Given the description of an element on the screen output the (x, y) to click on. 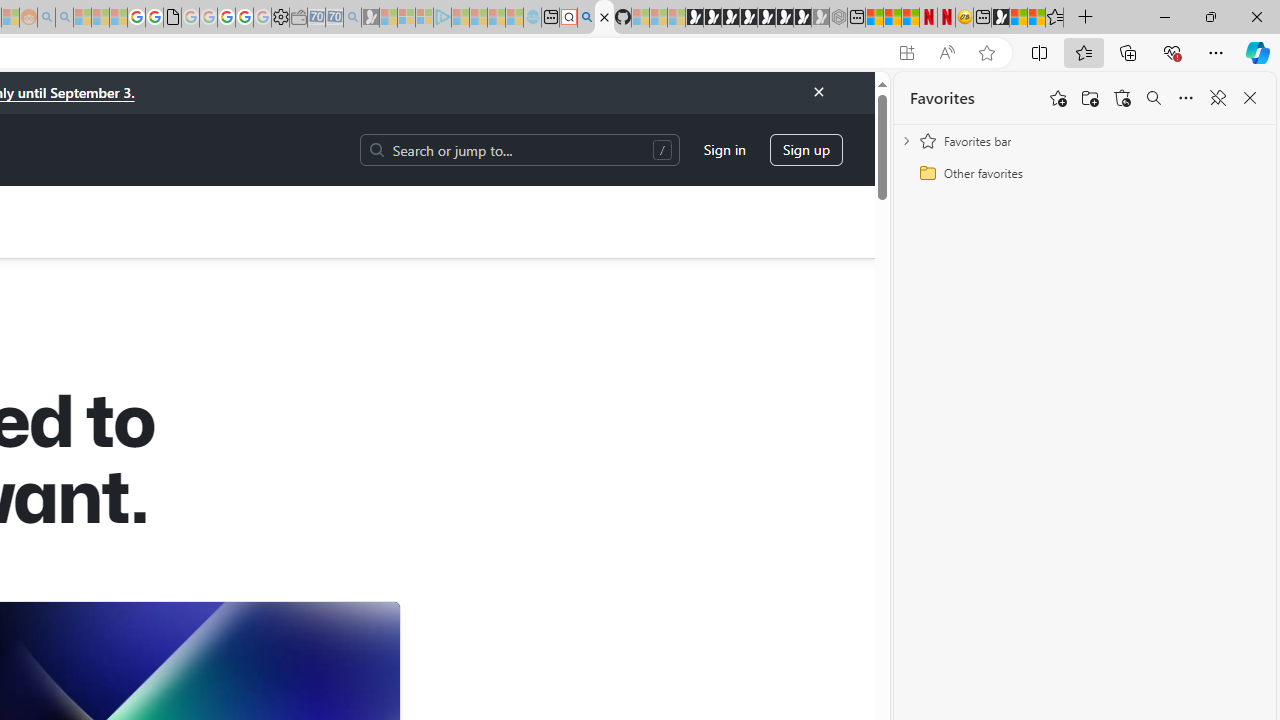
Wildlife - MSN (1017, 17)
Restore deleted favorites (1122, 98)
github - Search (586, 17)
Sign up (806, 149)
